Given the description of an element on the screen output the (x, y) to click on. 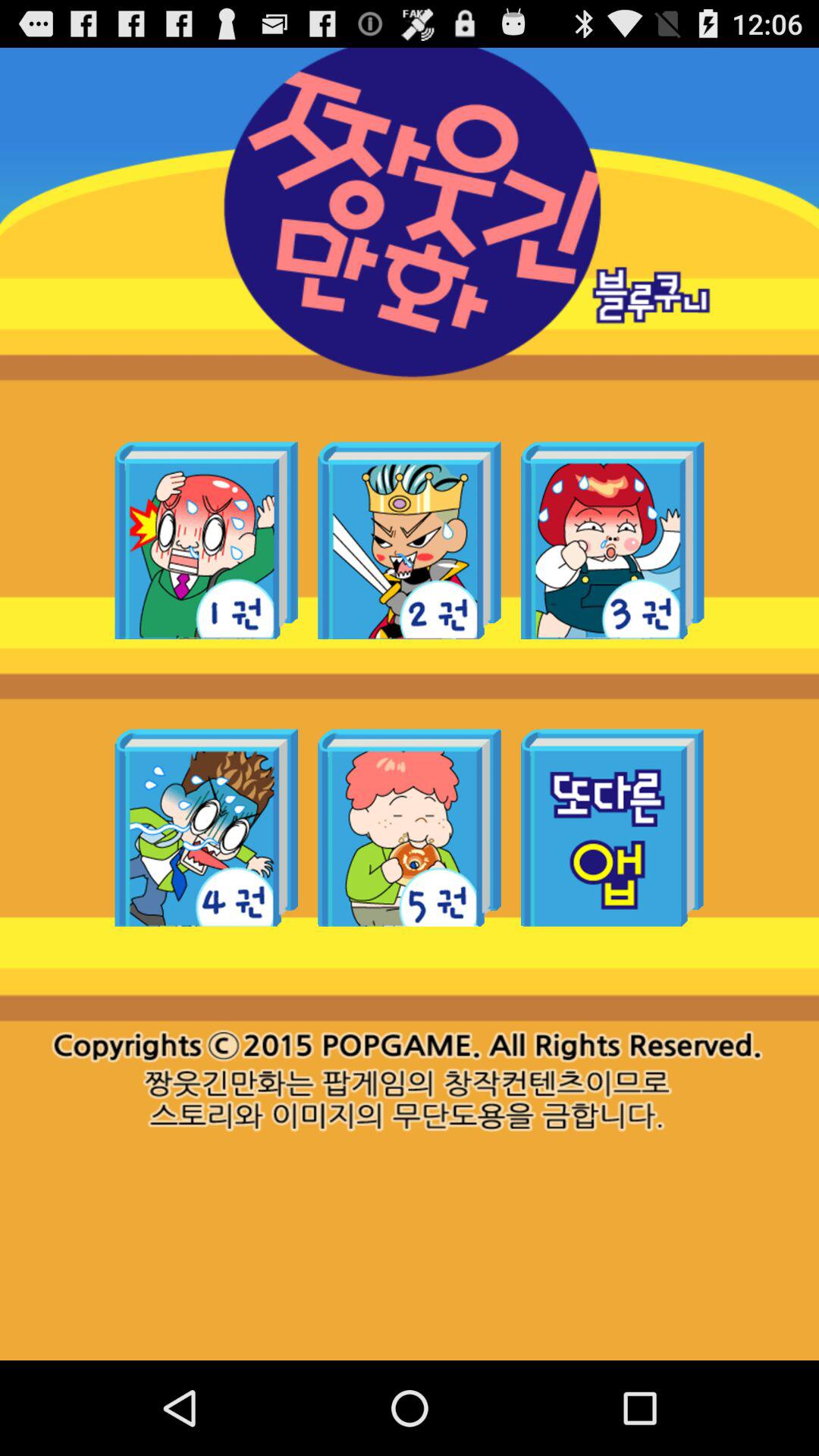
select this character (206, 827)
